Given the description of an element on the screen output the (x, y) to click on. 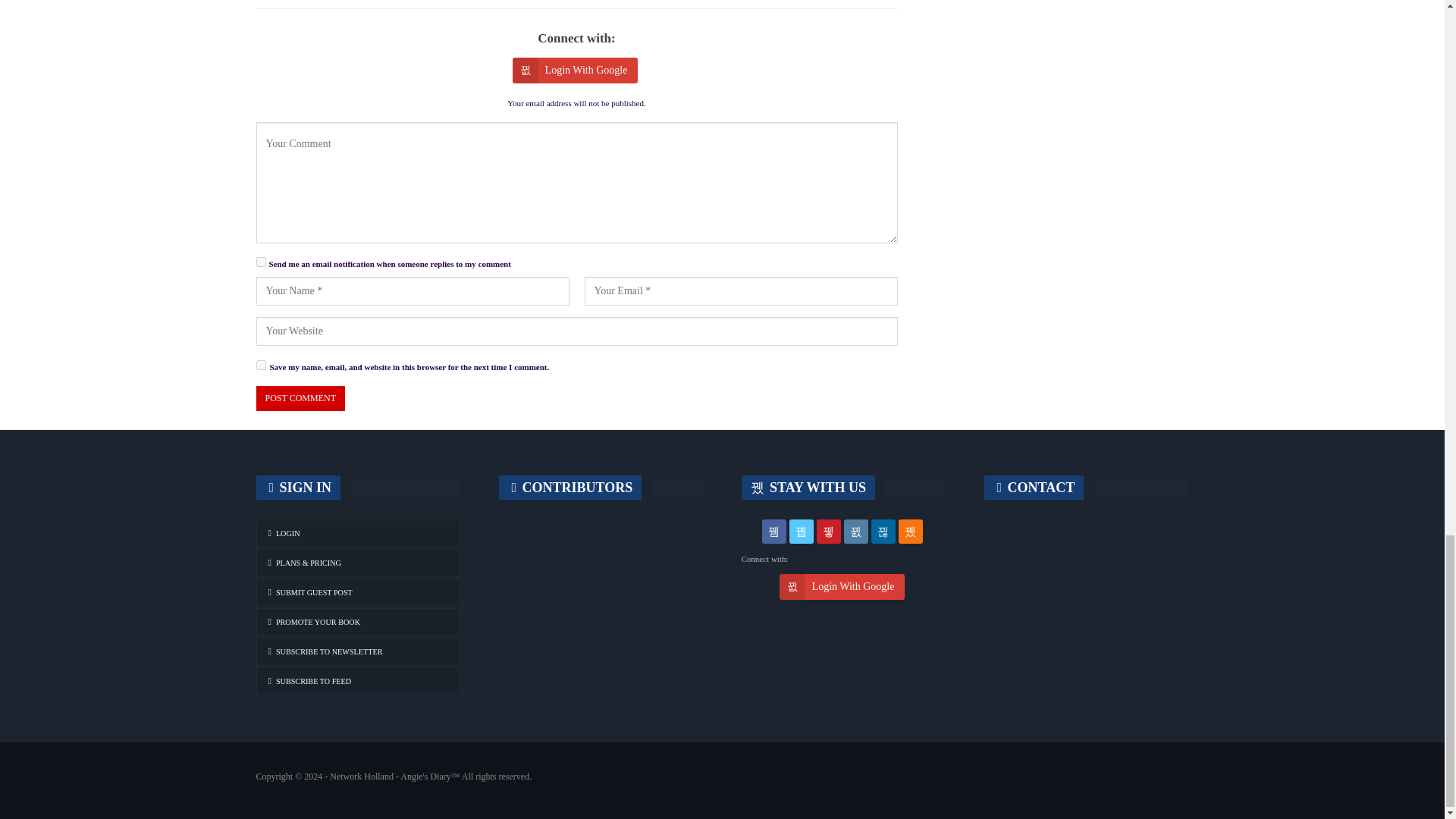
1 (261, 261)
yes (261, 365)
Post Comment (300, 398)
